Given the description of an element on the screen output the (x, y) to click on. 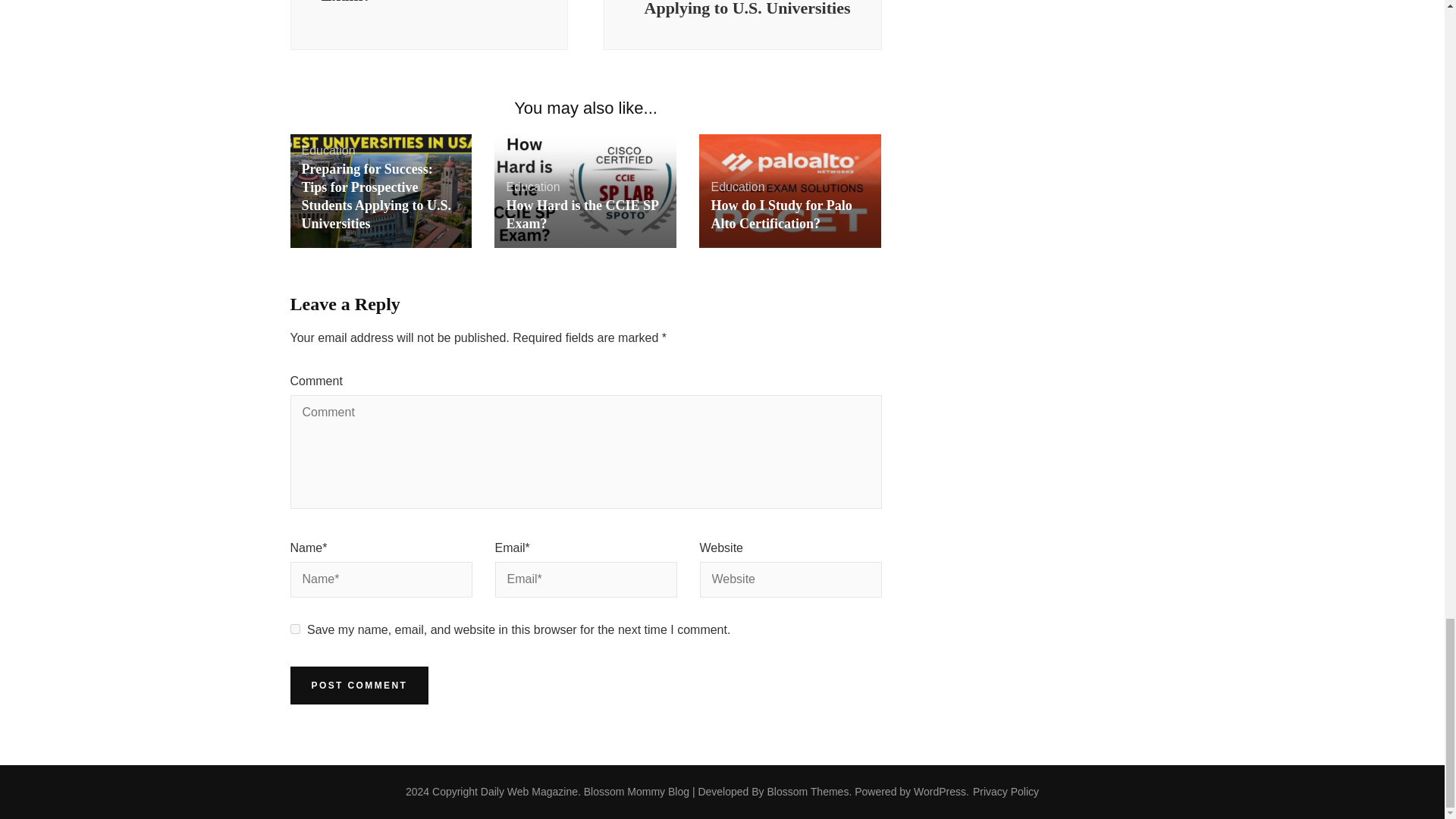
Post Comment (358, 685)
yes (294, 628)
